Given the description of an element on the screen output the (x, y) to click on. 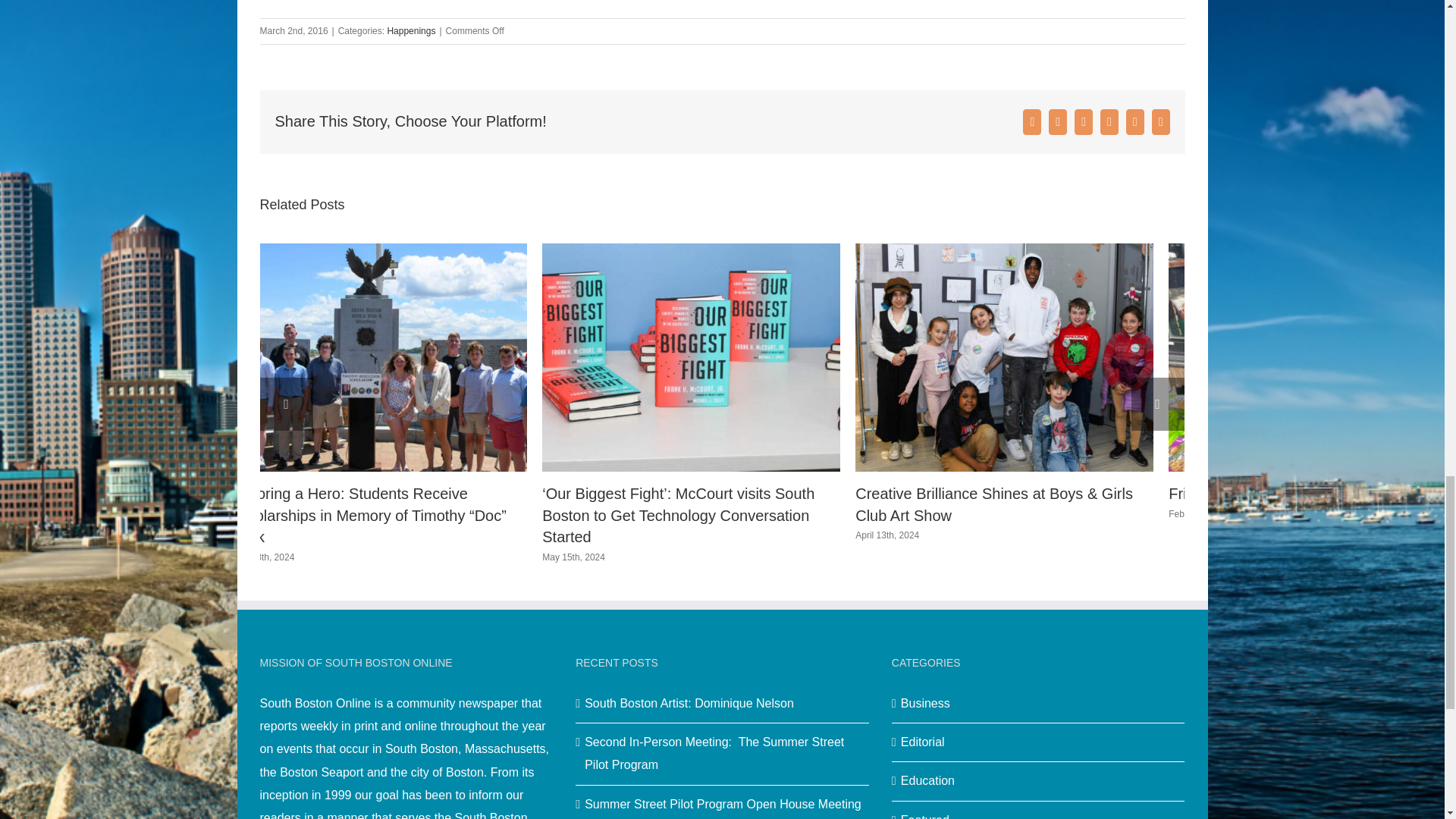
Happenings (411, 30)
